Given the description of an element on the screen output the (x, y) to click on. 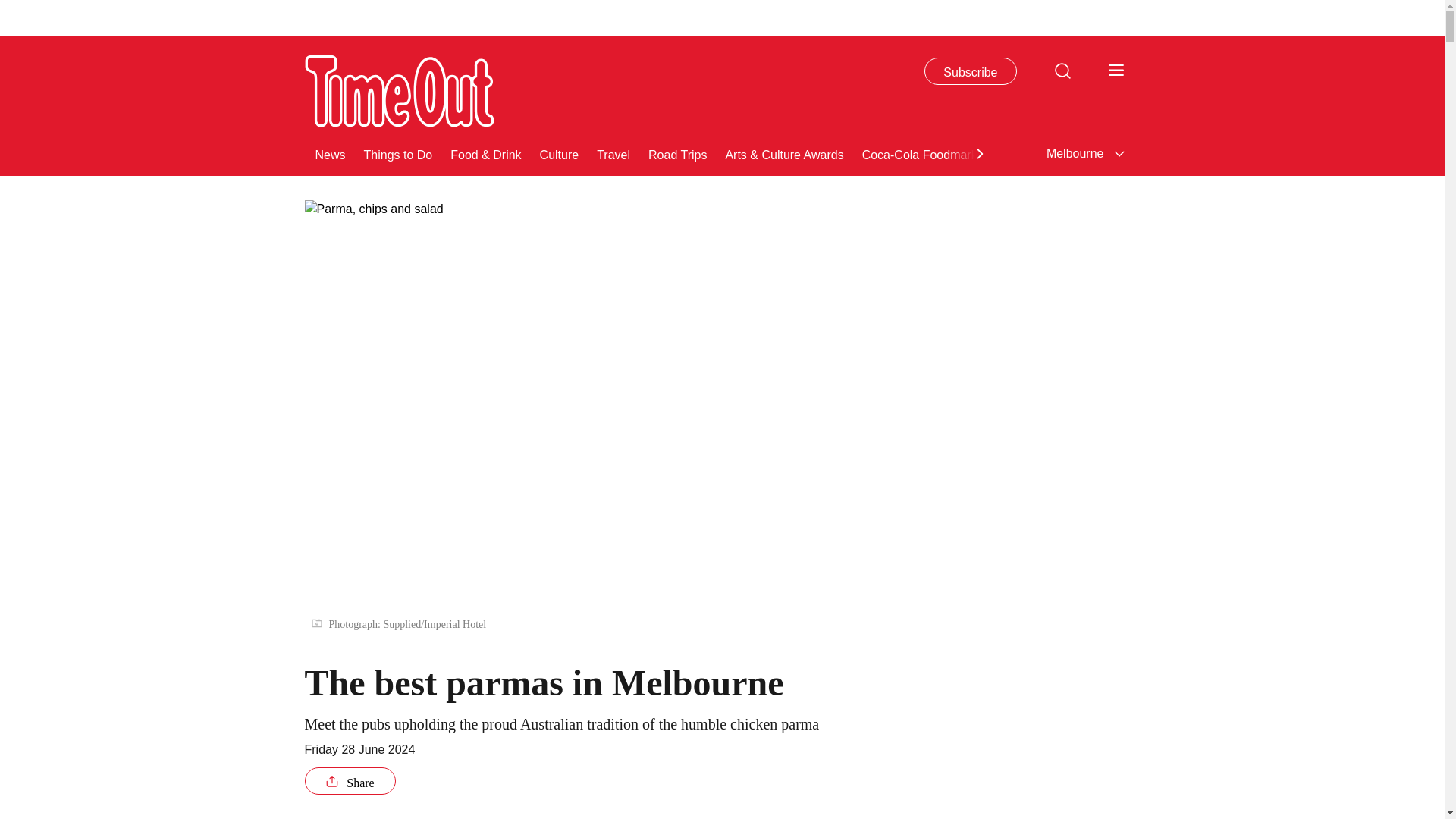
Go to the content (10, 7)
Culture (559, 153)
Things to Do (397, 153)
Search (1061, 69)
Travel (613, 153)
Time In (1381, 153)
Subscribe (970, 71)
News (330, 153)
Coca-Cola Foodmarks (922, 153)
Road Trips (676, 153)
